Given the description of an element on the screen output the (x, y) to click on. 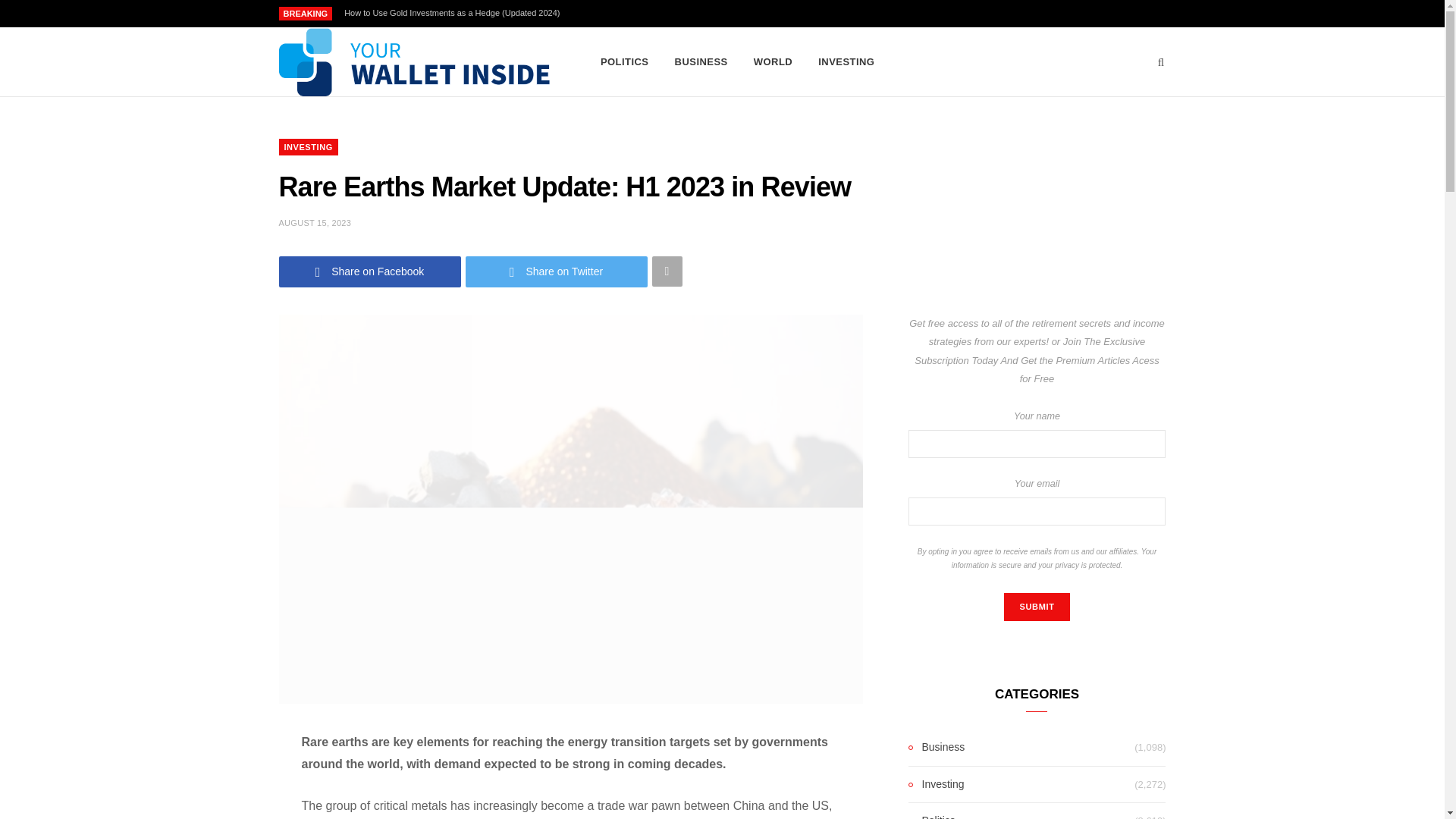
AUGUST 15, 2023 (315, 222)
Your Wallet Inside (415, 61)
POLITICS (625, 61)
Share on Twitter (556, 271)
Share on Twitter (556, 271)
BUSINESS (701, 61)
INVESTING (845, 61)
Share on Facebook (370, 271)
INVESTING (308, 146)
WORLD (772, 61)
